Given the description of an element on the screen output the (x, y) to click on. 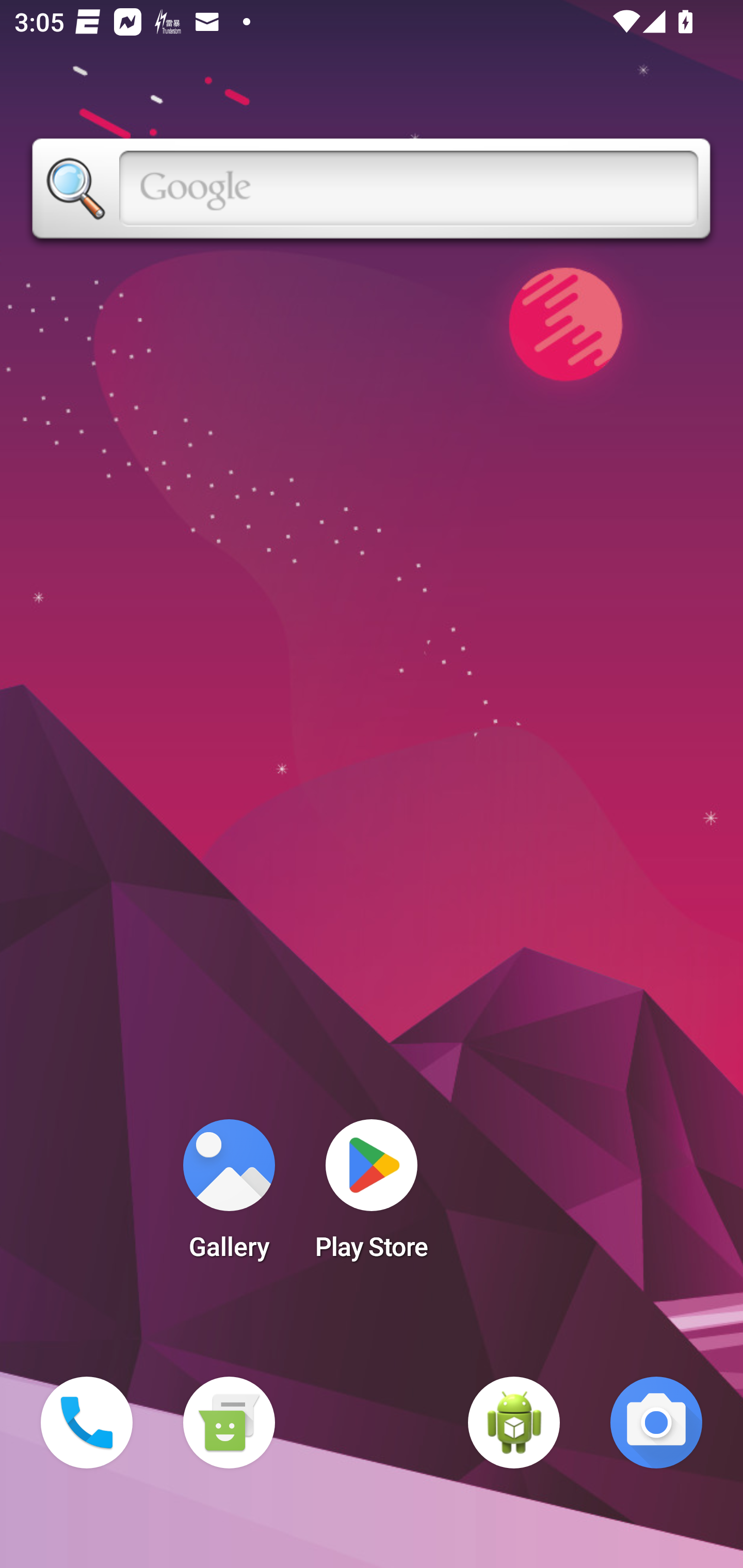
Gallery (228, 1195)
Play Store (371, 1195)
Phone (86, 1422)
Messaging (228, 1422)
WebView Browser Tester (513, 1422)
Camera (656, 1422)
